Given the description of an element on the screen output the (x, y) to click on. 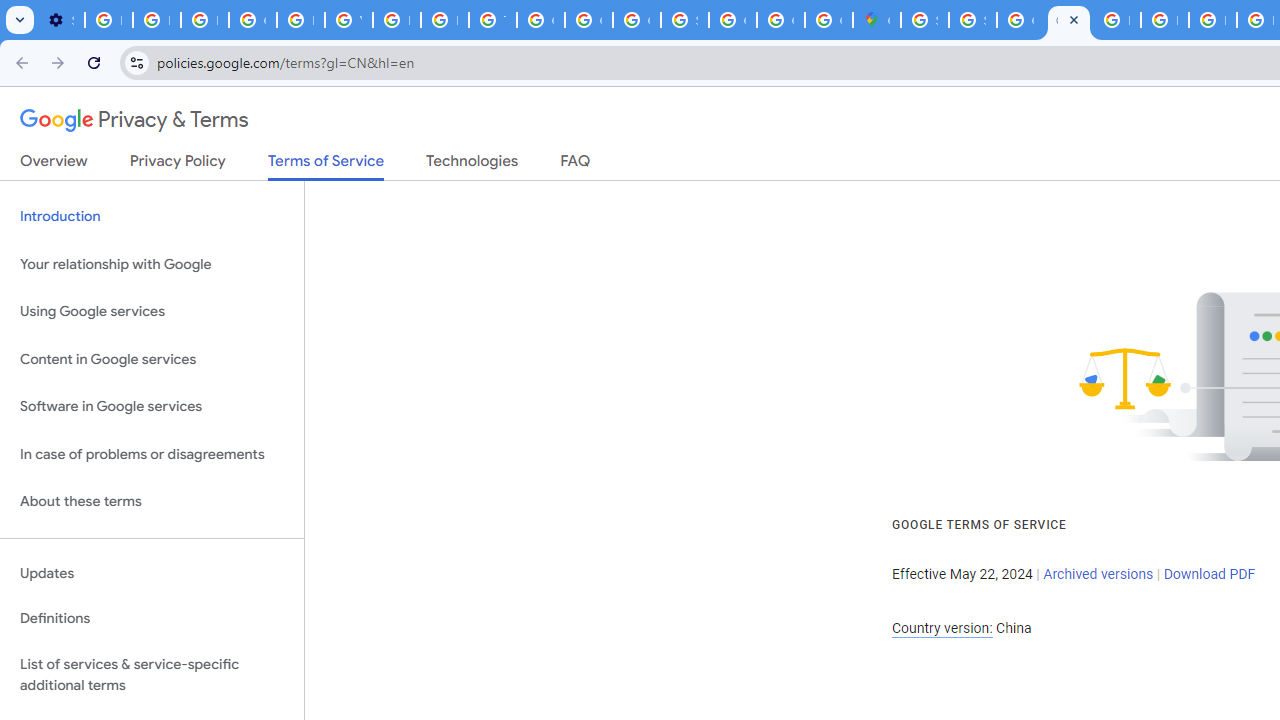
Privacy Help Center - Policies Help (1212, 20)
Settings - Customize profile (60, 20)
Country version: (942, 628)
Privacy Help Center - Policies Help (444, 20)
Sign in - Google Accounts (972, 20)
